Given the description of an element on the screen output the (x, y) to click on. 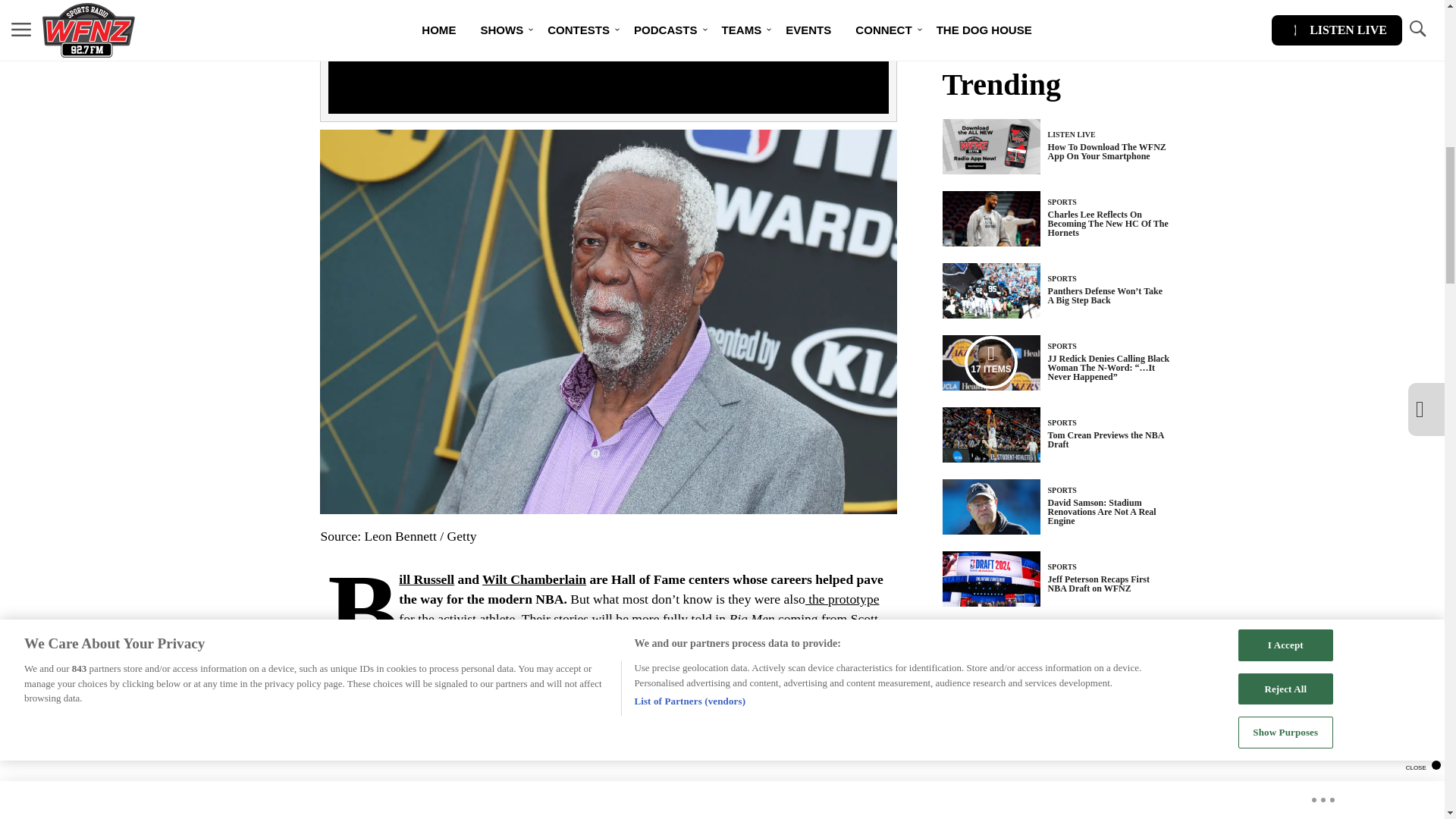
Media Playlist (426, 579)
